Given the description of an element on the screen output the (x, y) to click on. 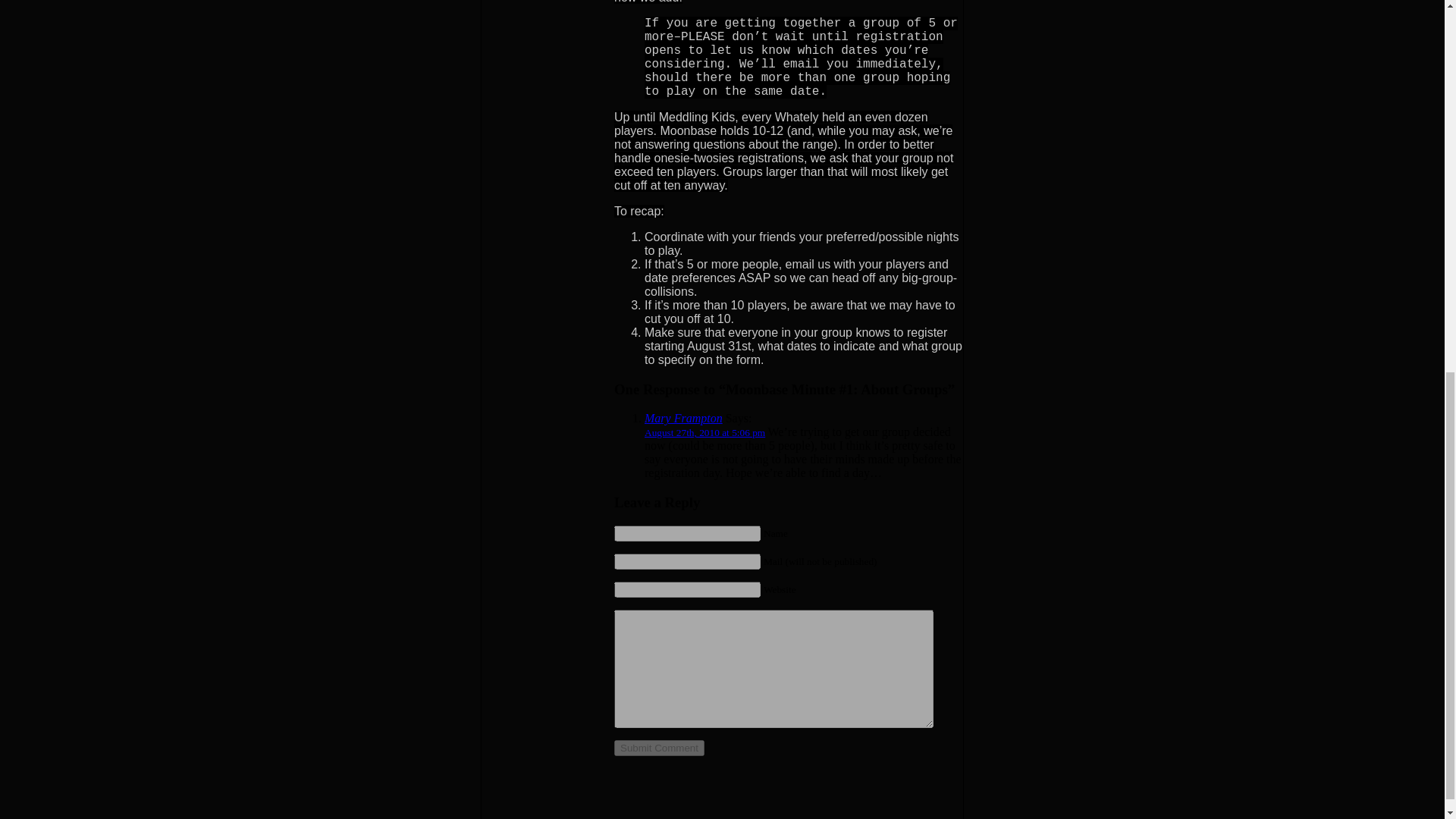
Mary Frampton (683, 418)
August 27th, 2010 at 5:06 pm (705, 432)
Submit Comment (659, 747)
Submit Comment (659, 747)
